Given the description of an element on the screen output the (x, y) to click on. 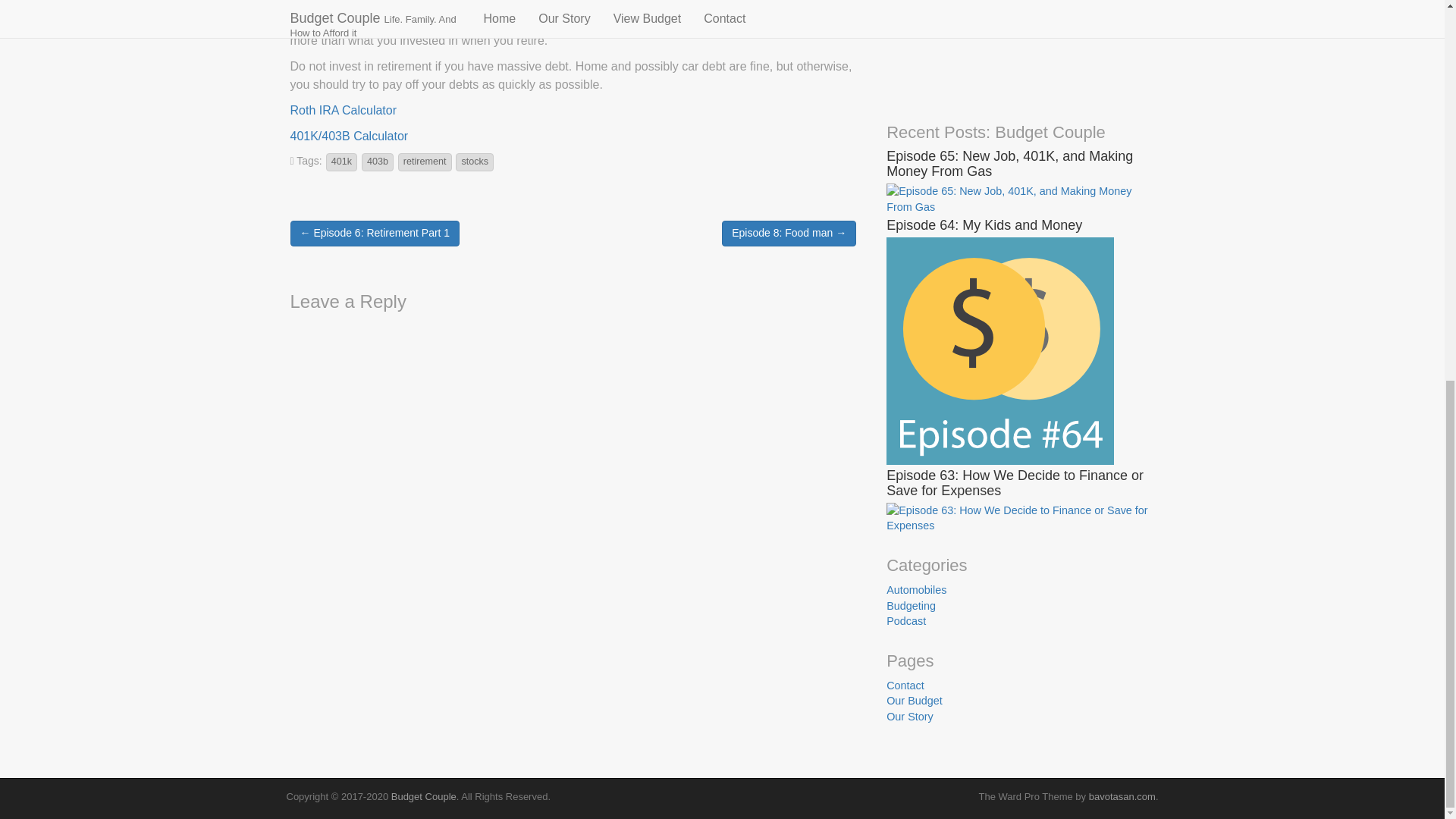
retirement (424, 162)
bavotasan.com (1122, 796)
Contact (905, 685)
Episode 65: New Job, 401K, and Making Money From Gas (1020, 197)
401k (341, 162)
Podcast (906, 621)
403b (377, 162)
Roth IRA Calculator (342, 110)
Episode 64: My Kids and Money (999, 349)
